Given the description of an element on the screen output the (x, y) to click on. 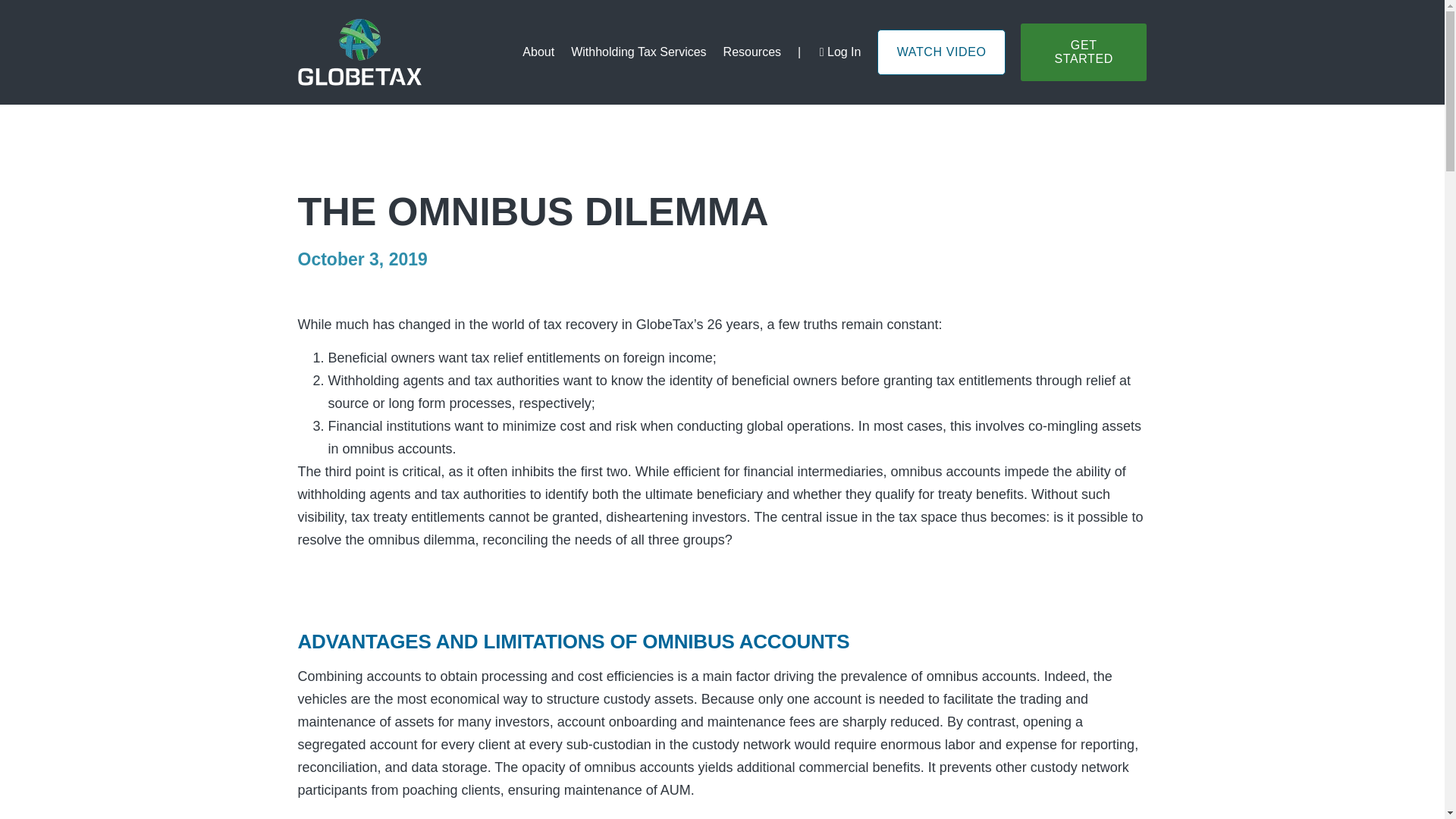
Resources (751, 51)
About (538, 51)
WATCH VIDEO (941, 52)
Withholding Tax Services (638, 51)
GET STARTED (1083, 52)
